Given the description of an element on the screen output the (x, y) to click on. 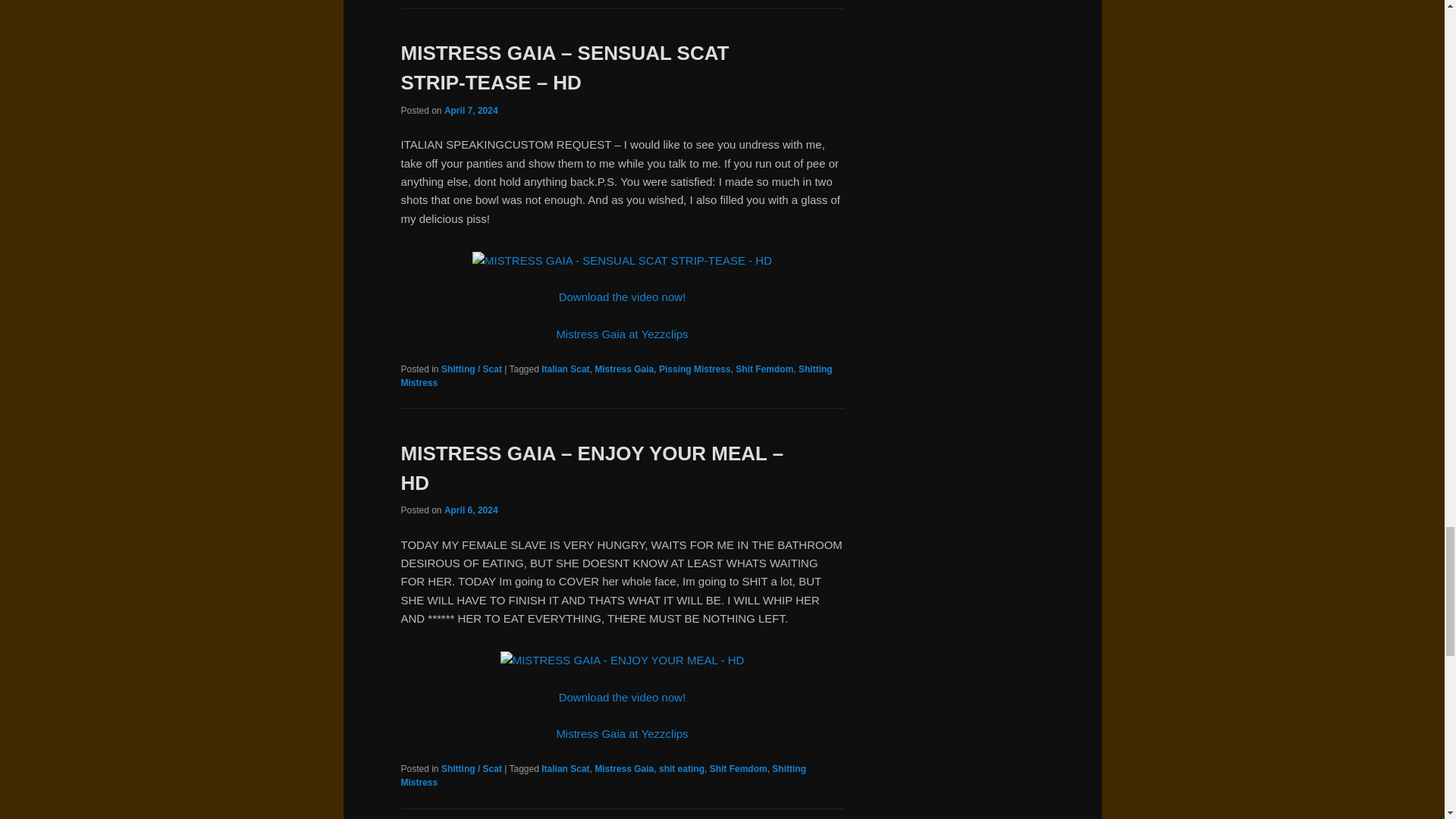
6:18 am (470, 110)
6:27 pm (470, 510)
